Given the description of an element on the screen output the (x, y) to click on. 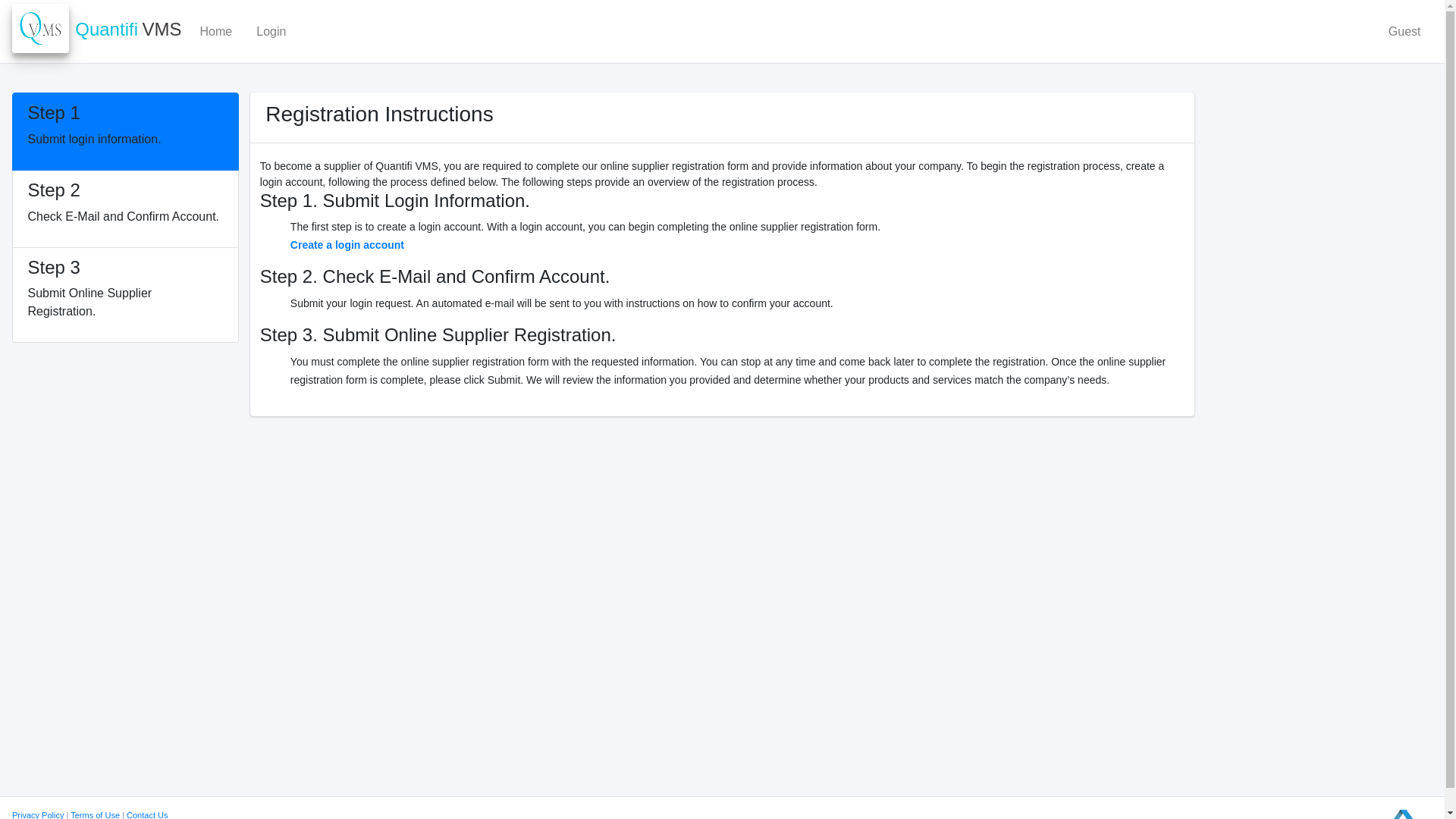
Terms of Use (125, 295)
Privacy Policy (94, 814)
Quantifi VMS (37, 814)
Create a login account (96, 30)
Terms of Use (125, 131)
Guest (346, 244)
Home (94, 814)
Contact Us (1403, 31)
